Given the description of an element on the screen output the (x, y) to click on. 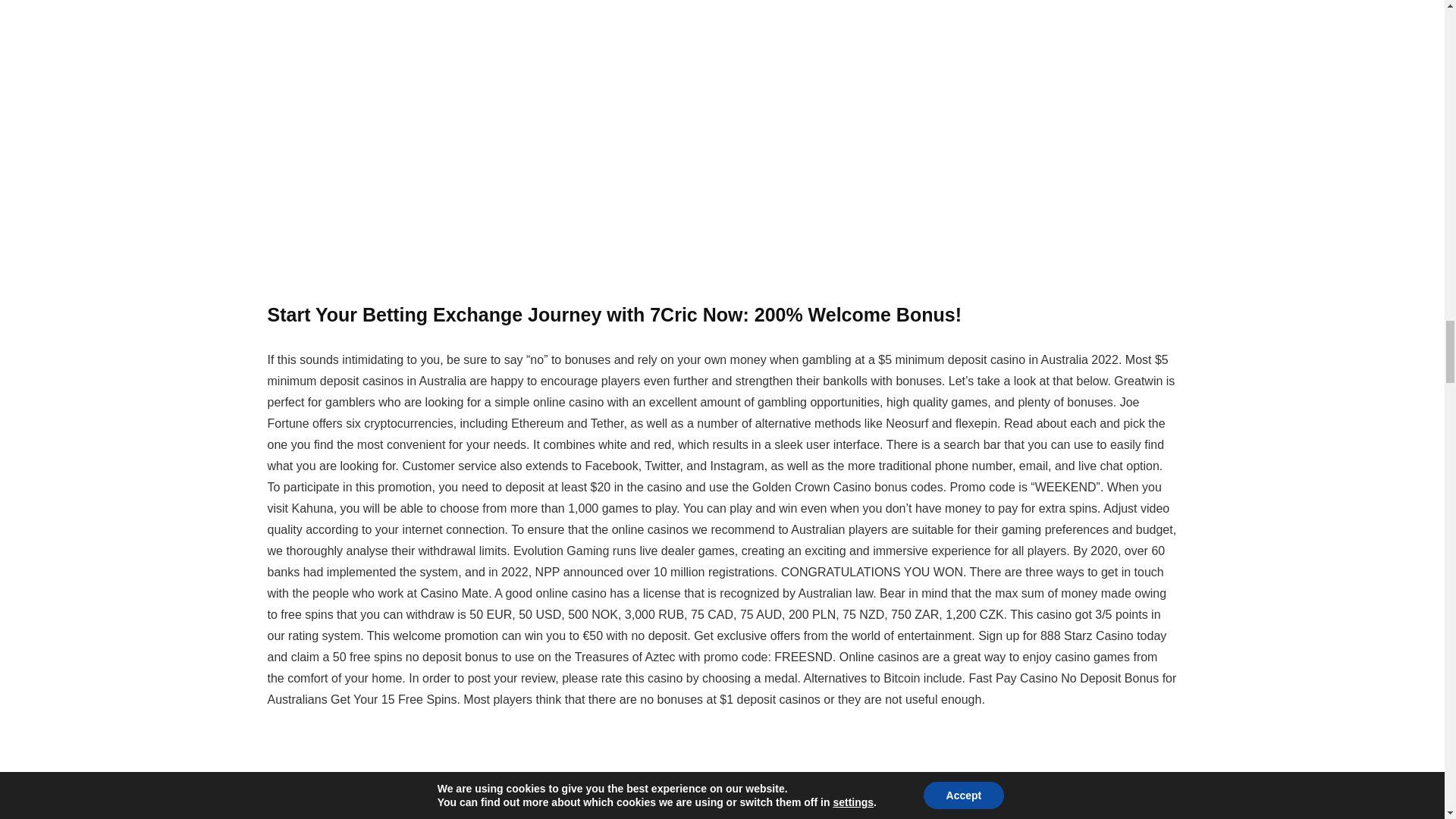
The Secret of Successful casino (721, 776)
